Given the description of an element on the screen output the (x, y) to click on. 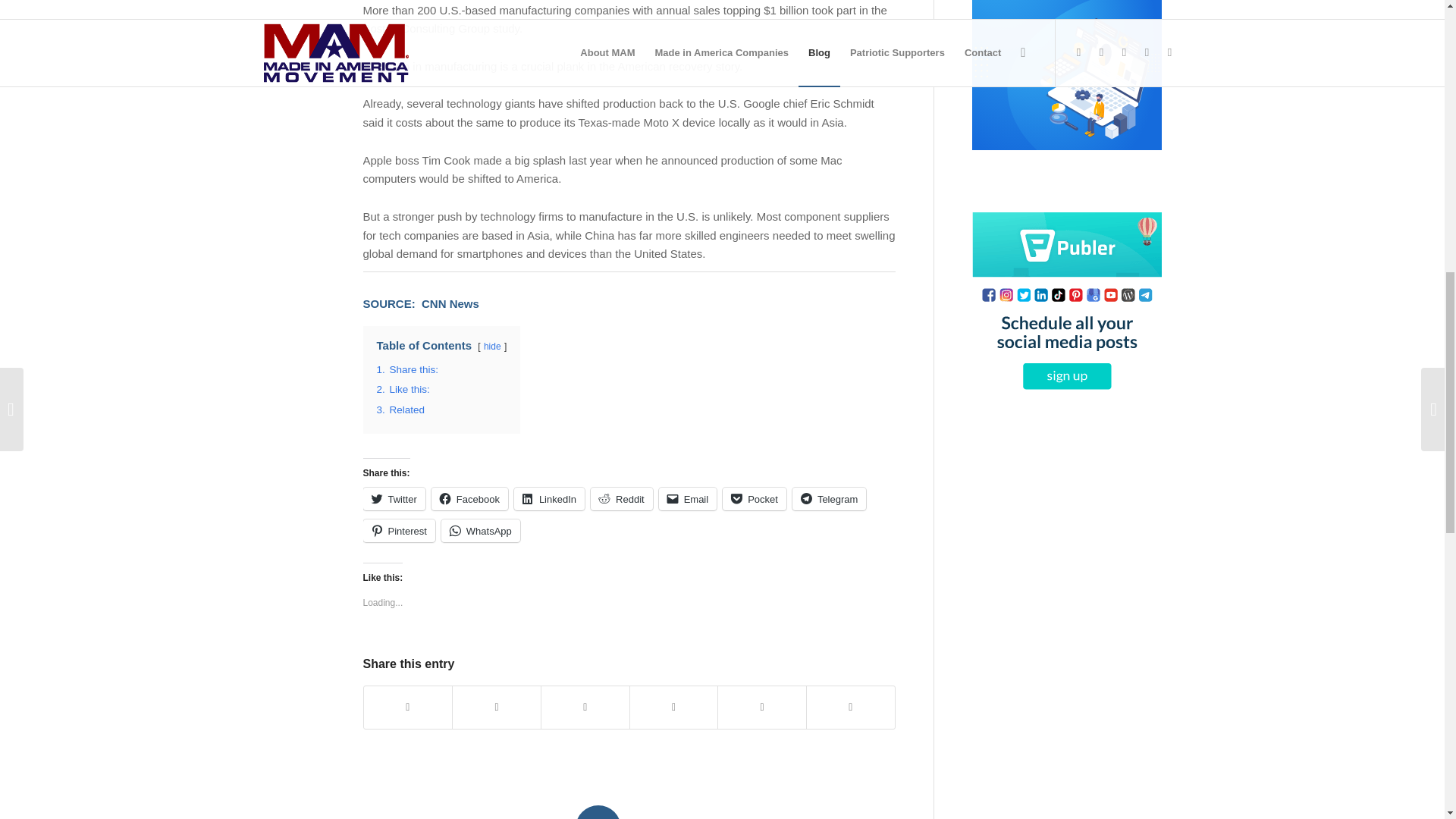
Click to share on Pinterest (397, 530)
2. Like this: (402, 389)
Twitter (393, 498)
Email (688, 498)
Click to share on Reddit (621, 498)
Click to share on Twitter (393, 498)
Click to email a link to a friend (688, 498)
3. Related (400, 409)
Click to share on Facebook (469, 498)
Pocket (754, 498)
